Given the description of an element on the screen output the (x, y) to click on. 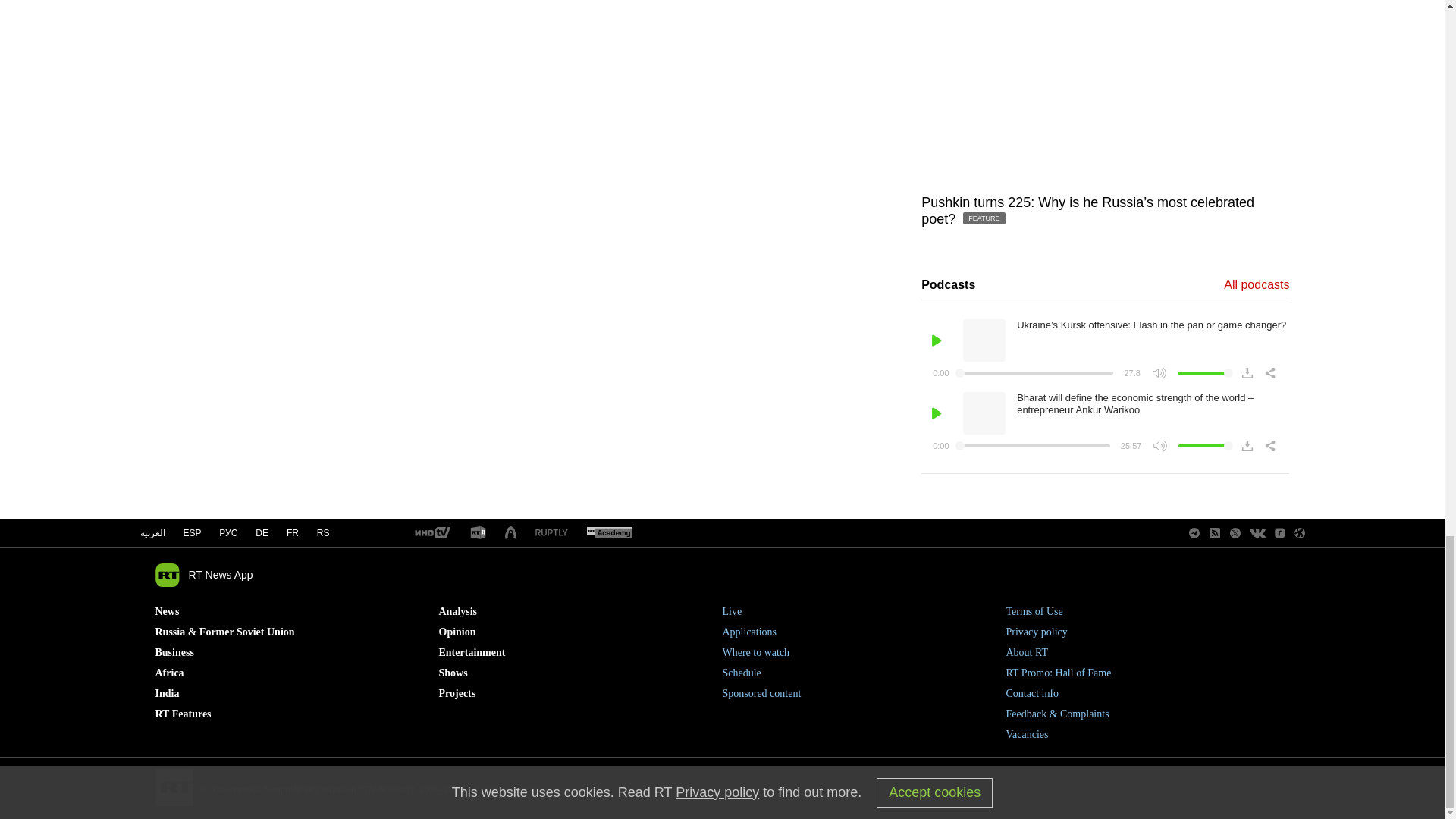
RT  (431, 533)
RT  (551, 533)
RT  (608, 533)
RT  (478, 533)
